Given the description of an element on the screen output the (x, y) to click on. 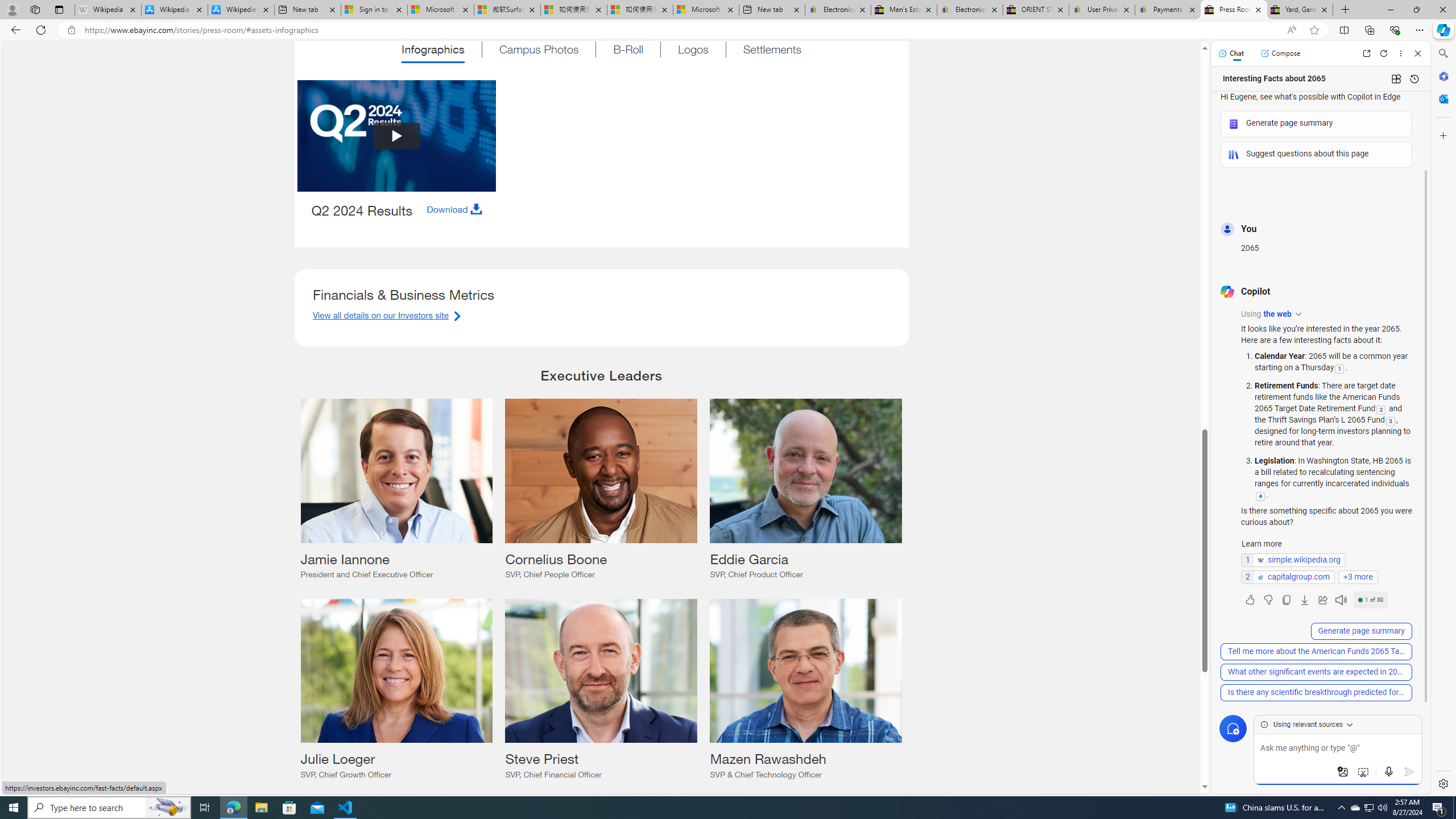
Compose (1280, 52)
